Given the description of an element on the screen output the (x, y) to click on. 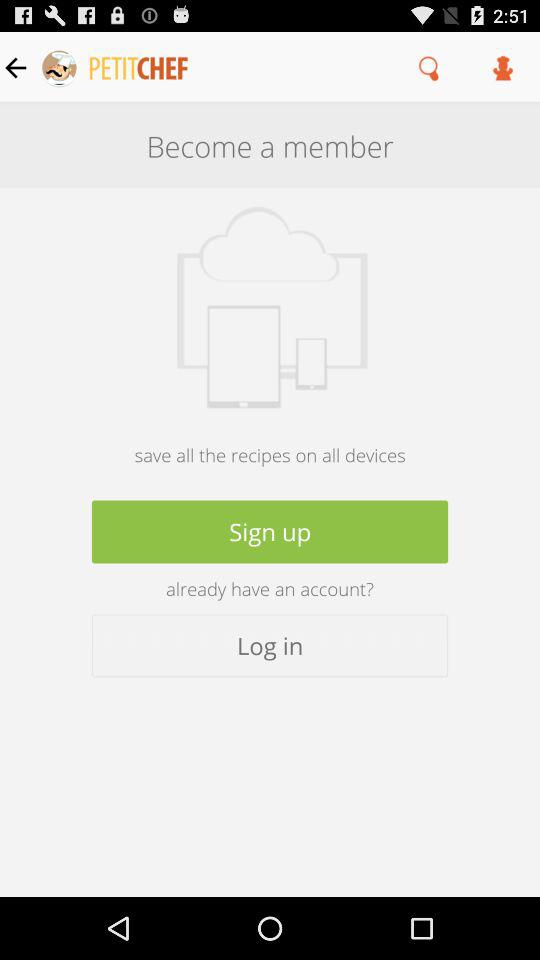
turn on item above the already have an (269, 531)
